Given the description of an element on the screen output the (x, y) to click on. 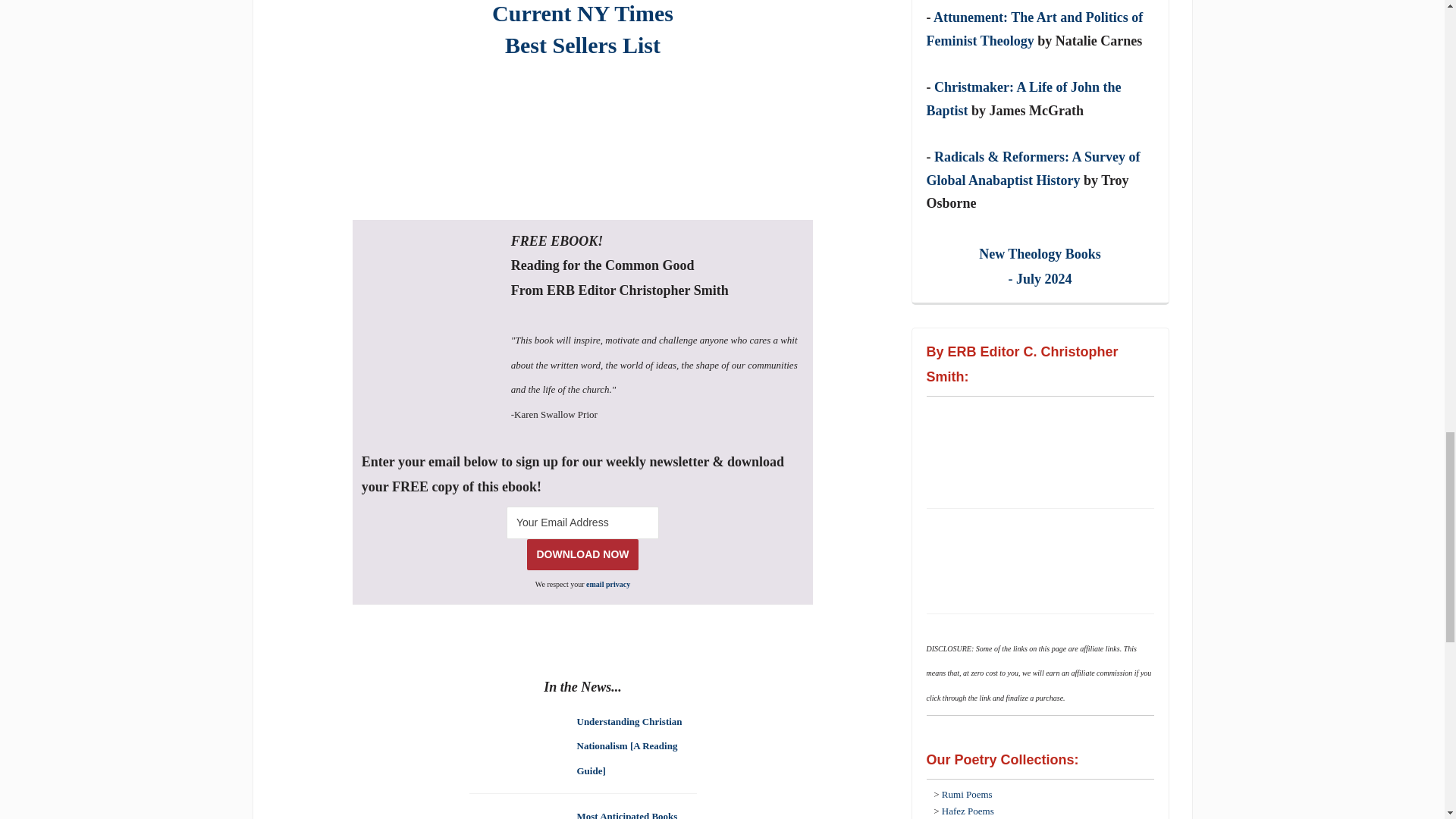
DOWNLOAD NOW (582, 554)
DOWNLOAD NOW (582, 554)
Most Anticipated Books of the Fall for Christian Readers! (626, 813)
Your Email Address (582, 28)
email privacy (582, 522)
Privacy Policy (608, 583)
